Given the description of an element on the screen output the (x, y) to click on. 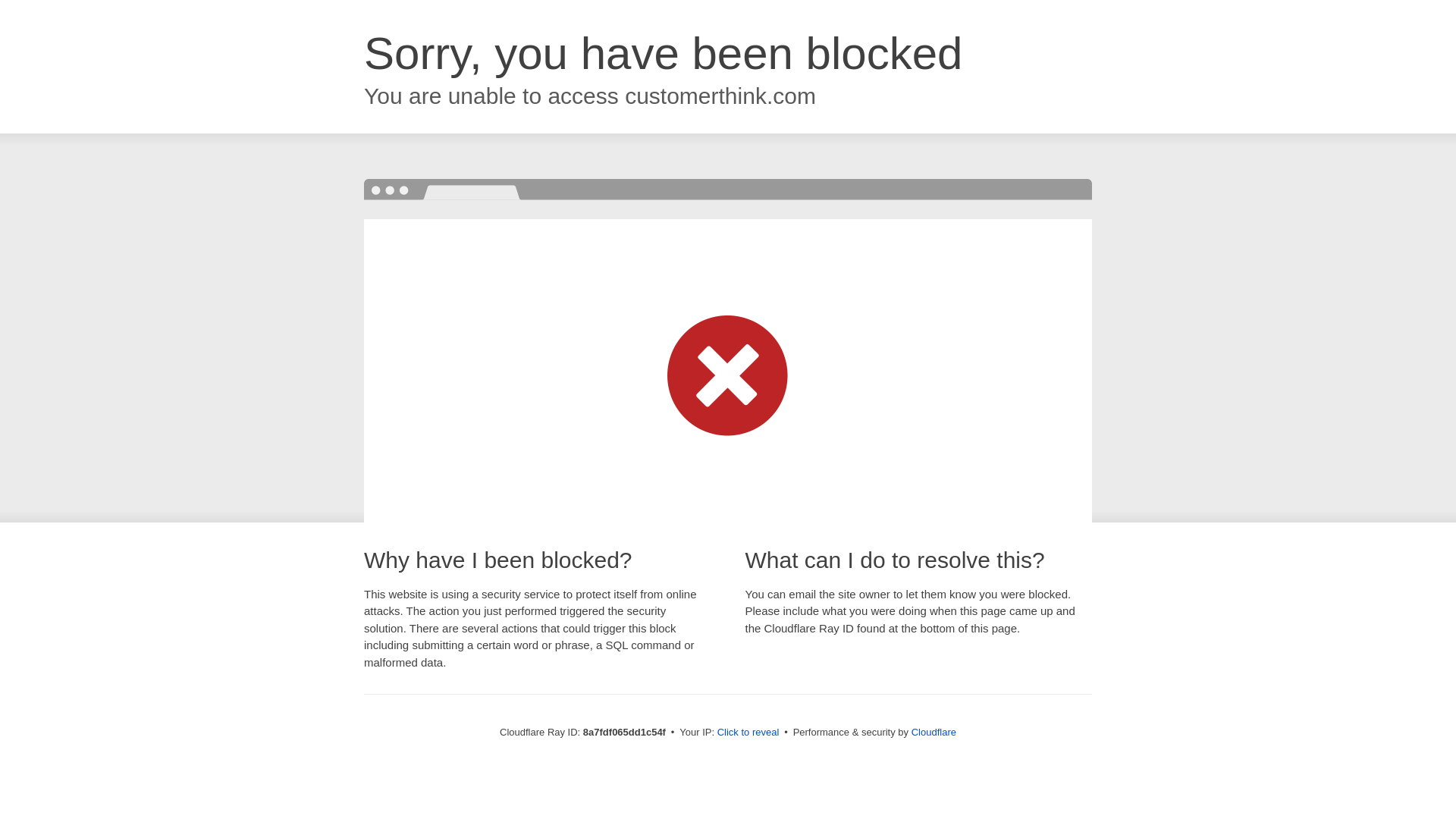
Click to reveal (747, 732)
Cloudflare (933, 731)
